Given the description of an element on the screen output the (x, y) to click on. 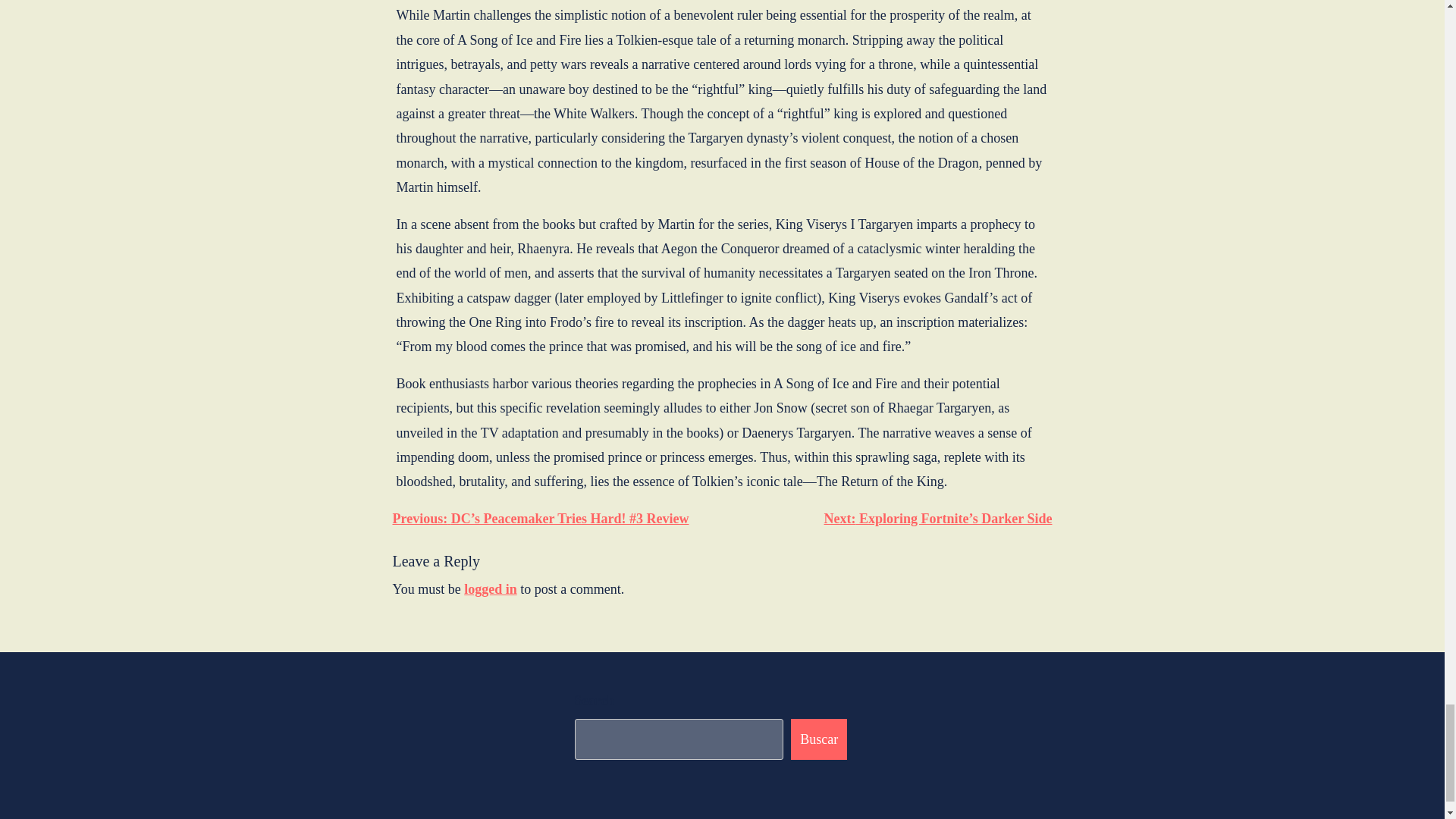
logged in (490, 589)
Buscar (818, 739)
